Given the description of an element on the screen output the (x, y) to click on. 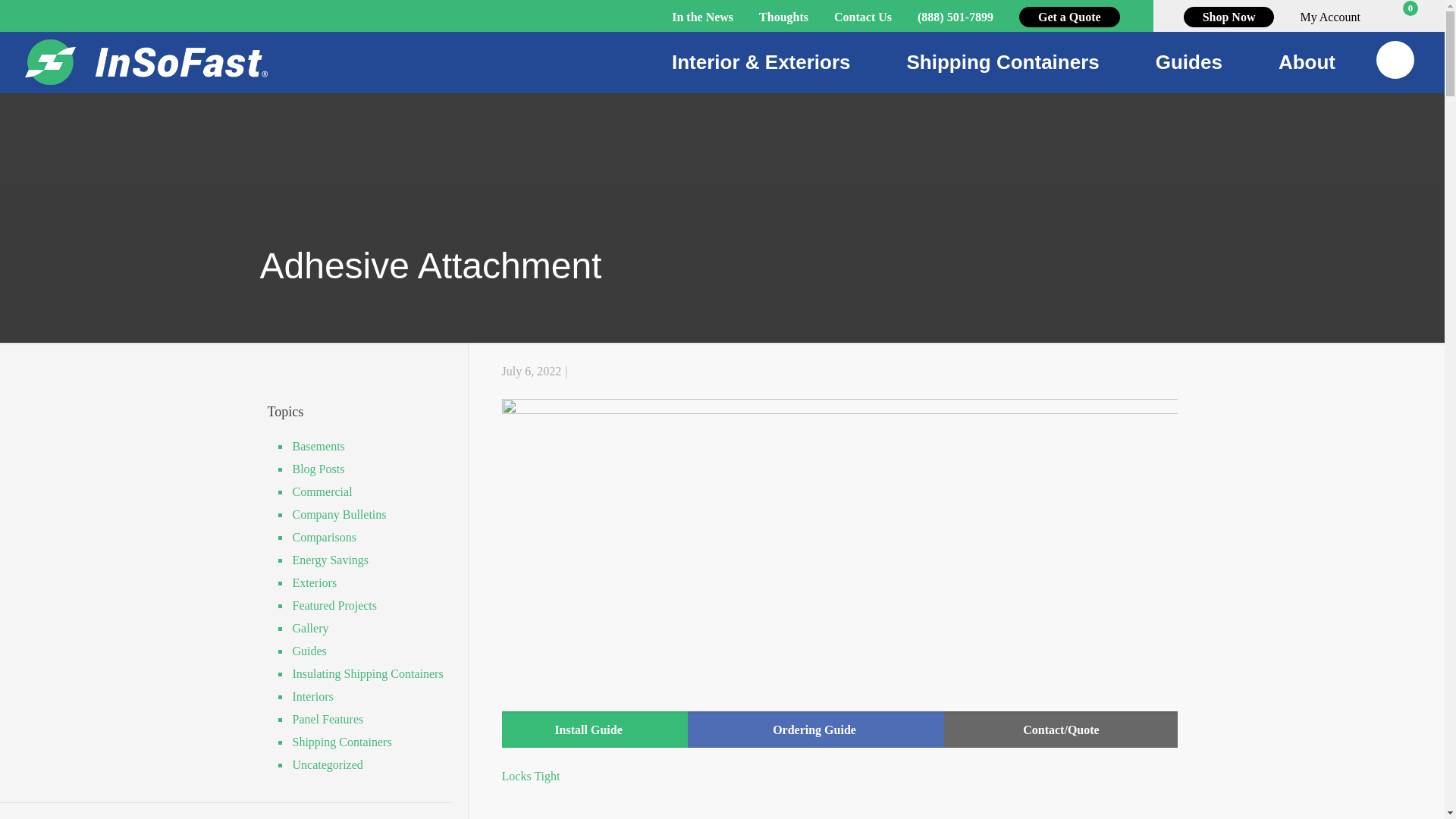
How to handle gaps and uneven walls (839, 806)
In the News (702, 16)
Get a Quote (1069, 16)
Shipping Containers (1003, 62)
Shop Now (1229, 16)
Thoughts (783, 16)
InSoFast (145, 61)
My Account (1329, 16)
Contact Us (1401, 16)
